Given the description of an element on the screen output the (x, y) to click on. 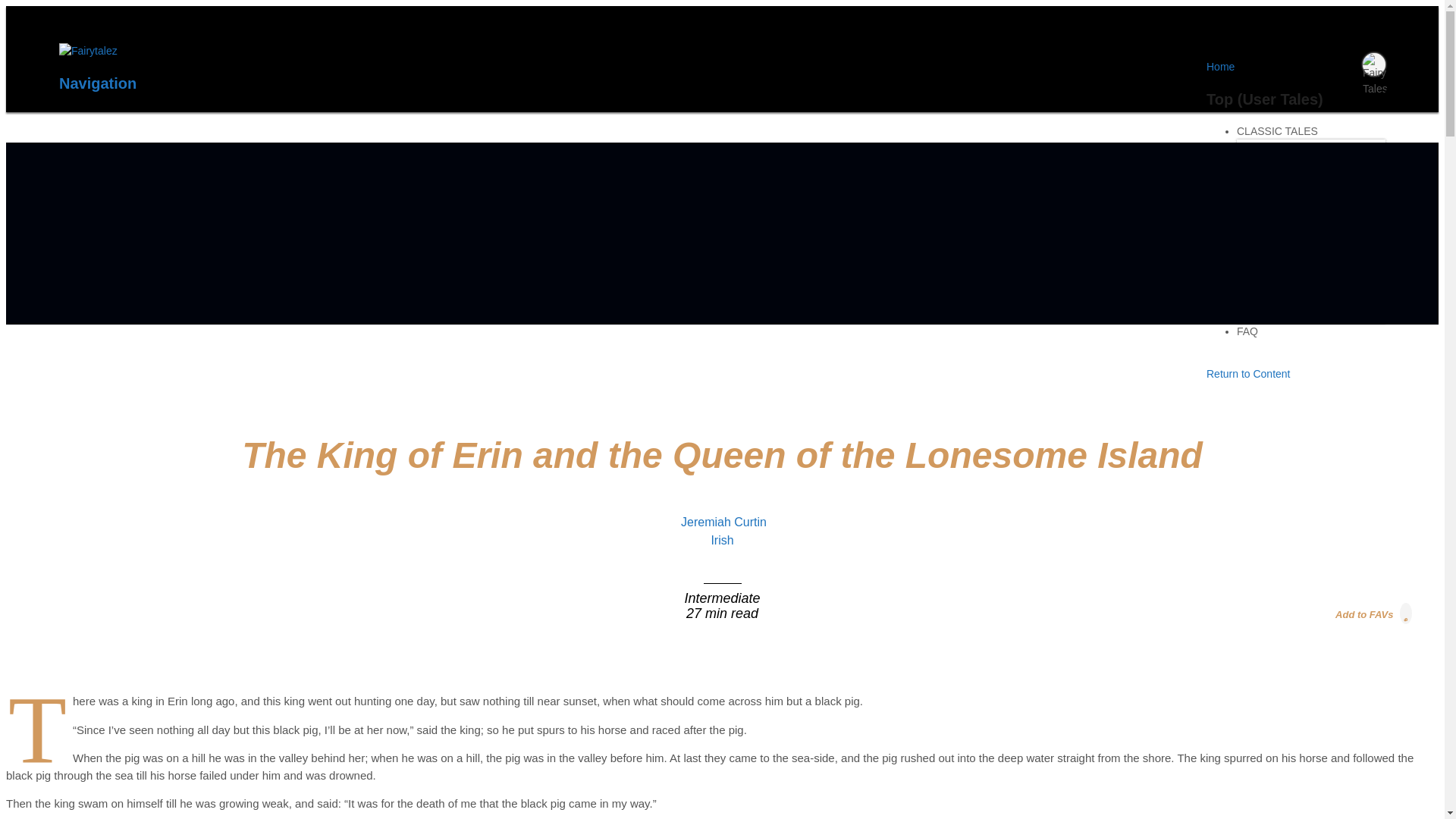
View all items in Jeremiah Curtin (724, 521)
Irish (721, 540)
USER TALES (1268, 236)
Books On Amazon (1295, 199)
Story Index (1276, 283)
Story Index (1276, 183)
Jeremiah Curtin (724, 521)
CLASSIC TALES (1276, 136)
Competitions (1281, 300)
FAQ (1246, 336)
